Given the description of an element on the screen output the (x, y) to click on. 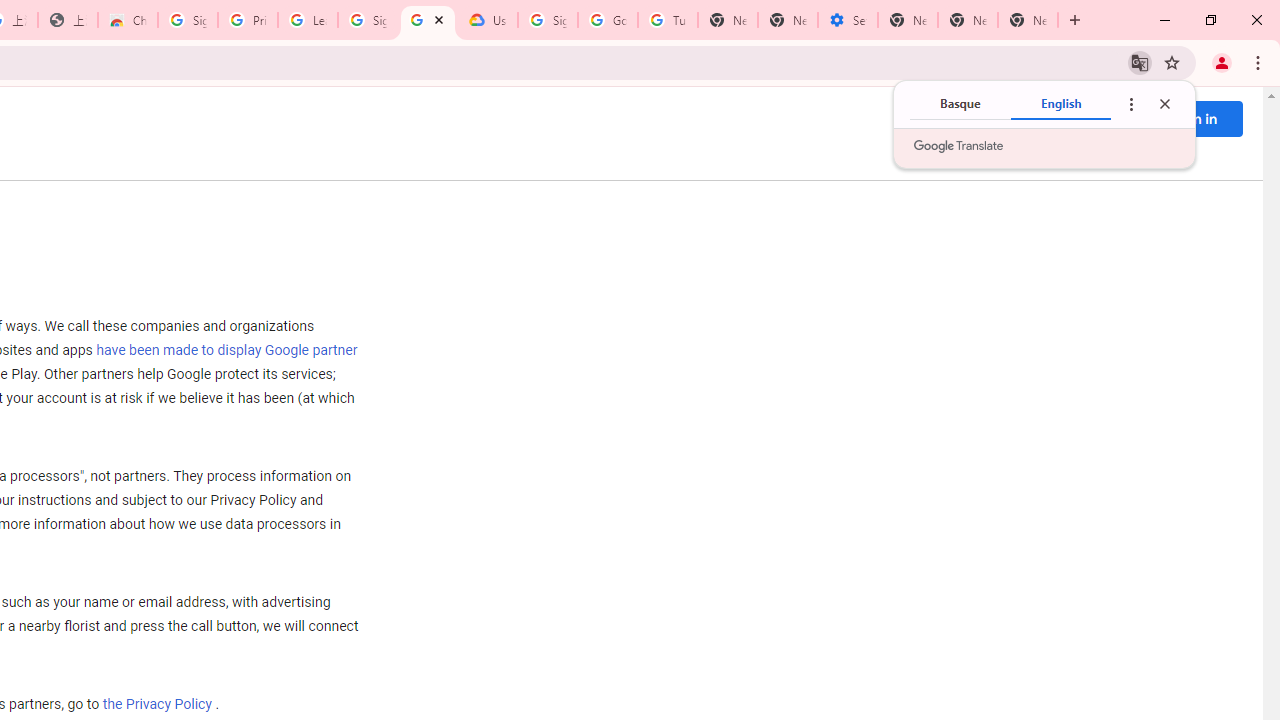
Translate options (1130, 103)
Translate this page (1139, 62)
Chrome Web Store - Color themes by Chrome (127, 20)
English (1061, 103)
Sign in - Google Accounts (548, 20)
Turn cookies on or off - Computer - Google Account Help (667, 20)
New Tab (1028, 20)
Google Account Help (607, 20)
